Given the description of an element on the screen output the (x, y) to click on. 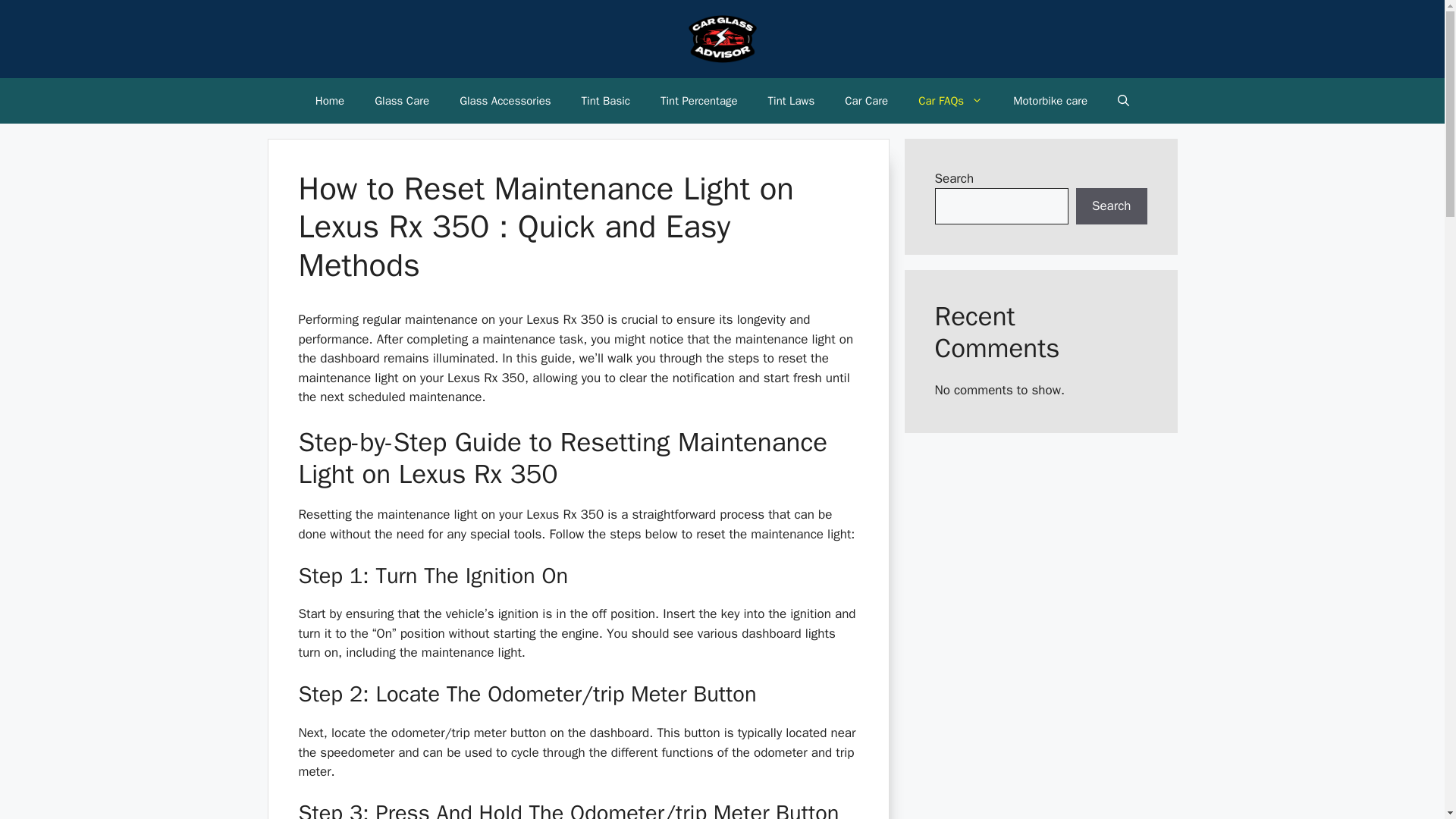
Tint Basic (605, 100)
Tint Laws (790, 100)
Glass Accessories (505, 100)
Motorbike care (1049, 100)
Home (329, 100)
Glass Care (401, 100)
Car Care (865, 100)
Tint Percentage (698, 100)
Car FAQs (949, 100)
